Given the description of an element on the screen output the (x, y) to click on. 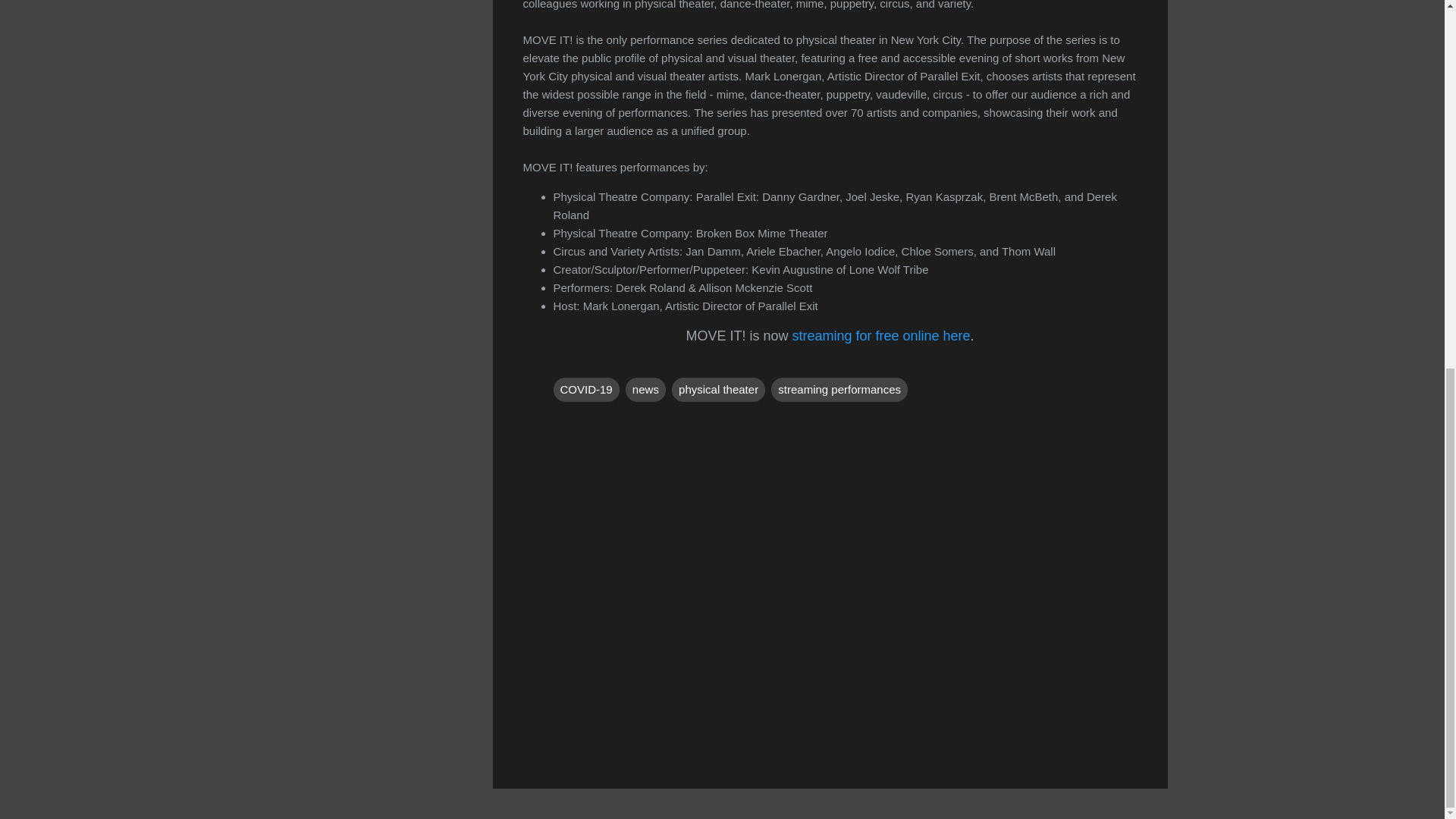
COVID-19 (586, 389)
streaming performances (839, 389)
physical theater (718, 389)
streaming for free online here (880, 335)
news (645, 389)
